Given the description of an element on the screen output the (x, y) to click on. 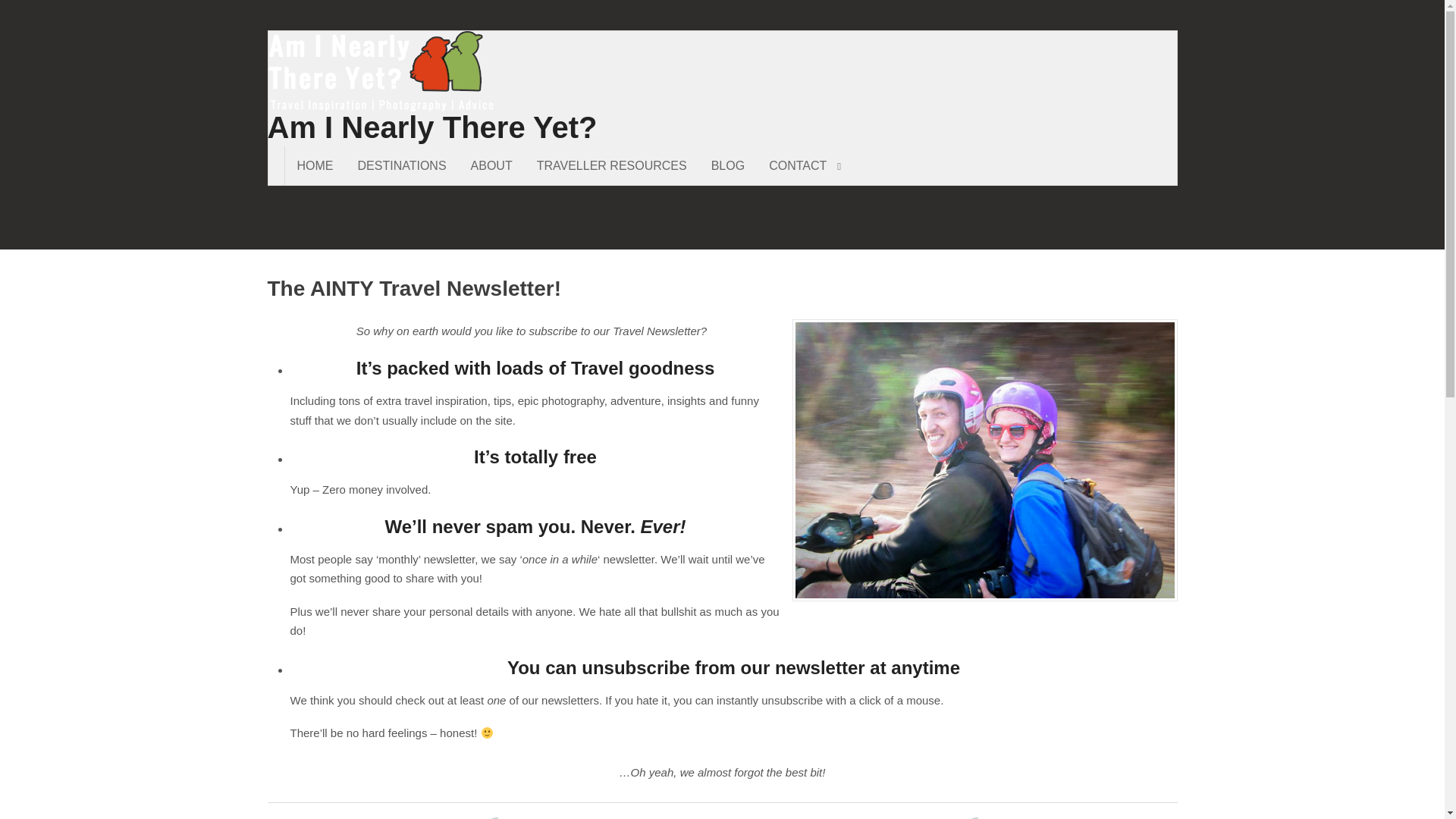
CONTACT (805, 165)
ABOUT (491, 165)
TRAVELLER RESOURCES (611, 165)
BLOG (727, 165)
HOME (315, 165)
DESTINATIONS (402, 165)
Am I Nearly There Yet? (431, 127)
